Given the description of an element on the screen output the (x, y) to click on. 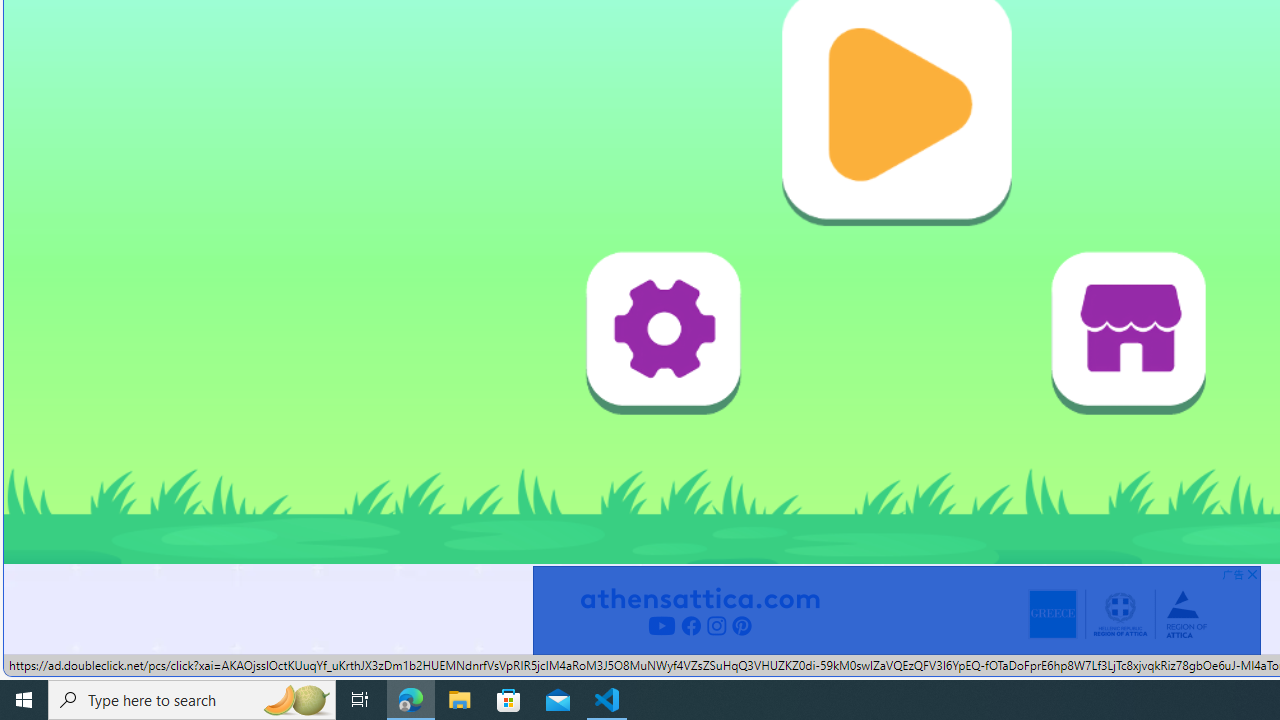
Advertisement (896, 610)
AutomationID: cbb (1252, 574)
Advertisement (896, 610)
